Given the description of an element on the screen output the (x, y) to click on. 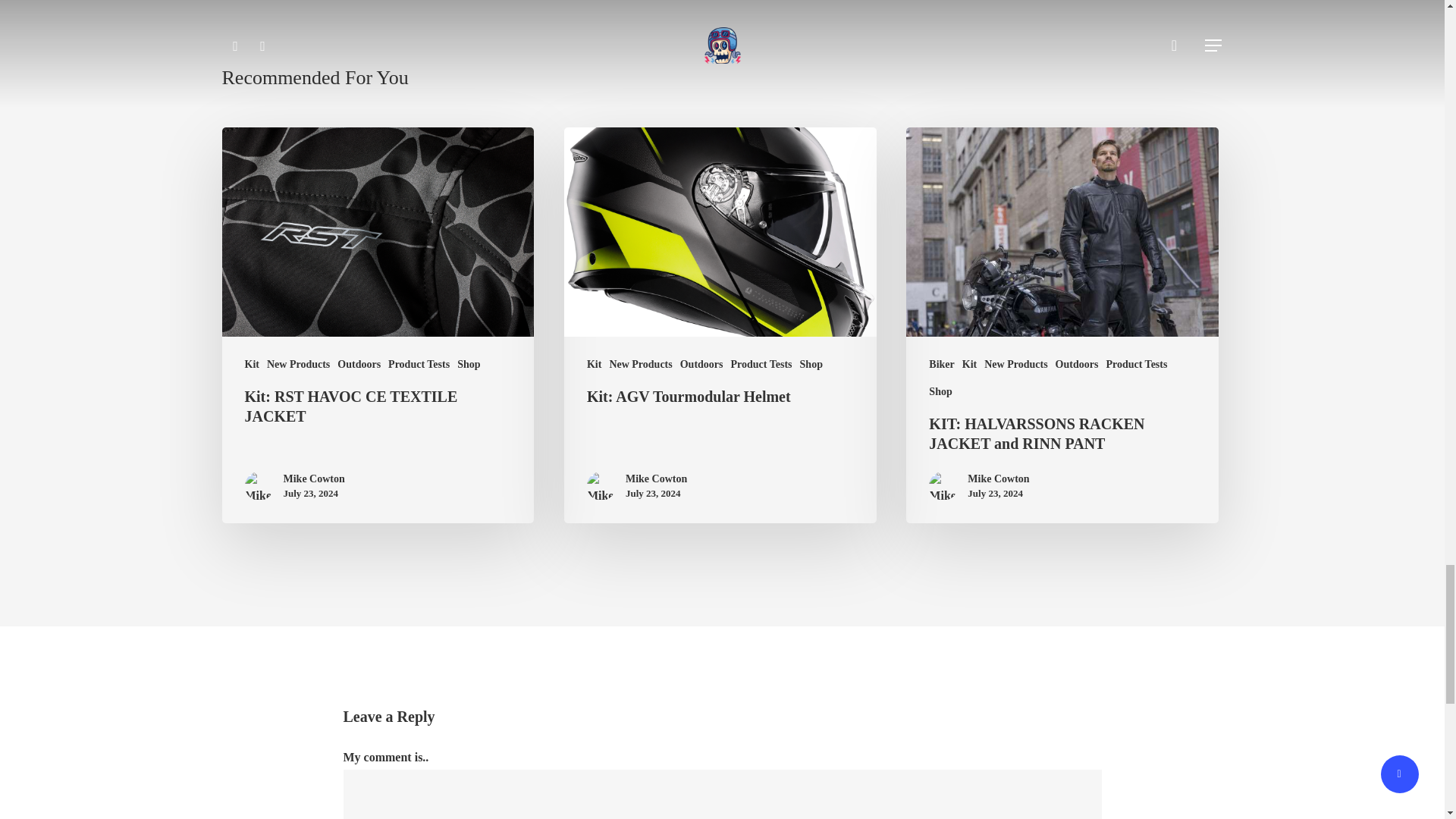
New Products (639, 364)
Product Tests (418, 364)
Kit (593, 364)
Outdoors (701, 364)
Product Tests (761, 364)
New Products (298, 364)
Kit (251, 364)
Shop (468, 364)
Outdoors (358, 364)
Mike Cowton (314, 478)
